Given the description of an element on the screen output the (x, y) to click on. 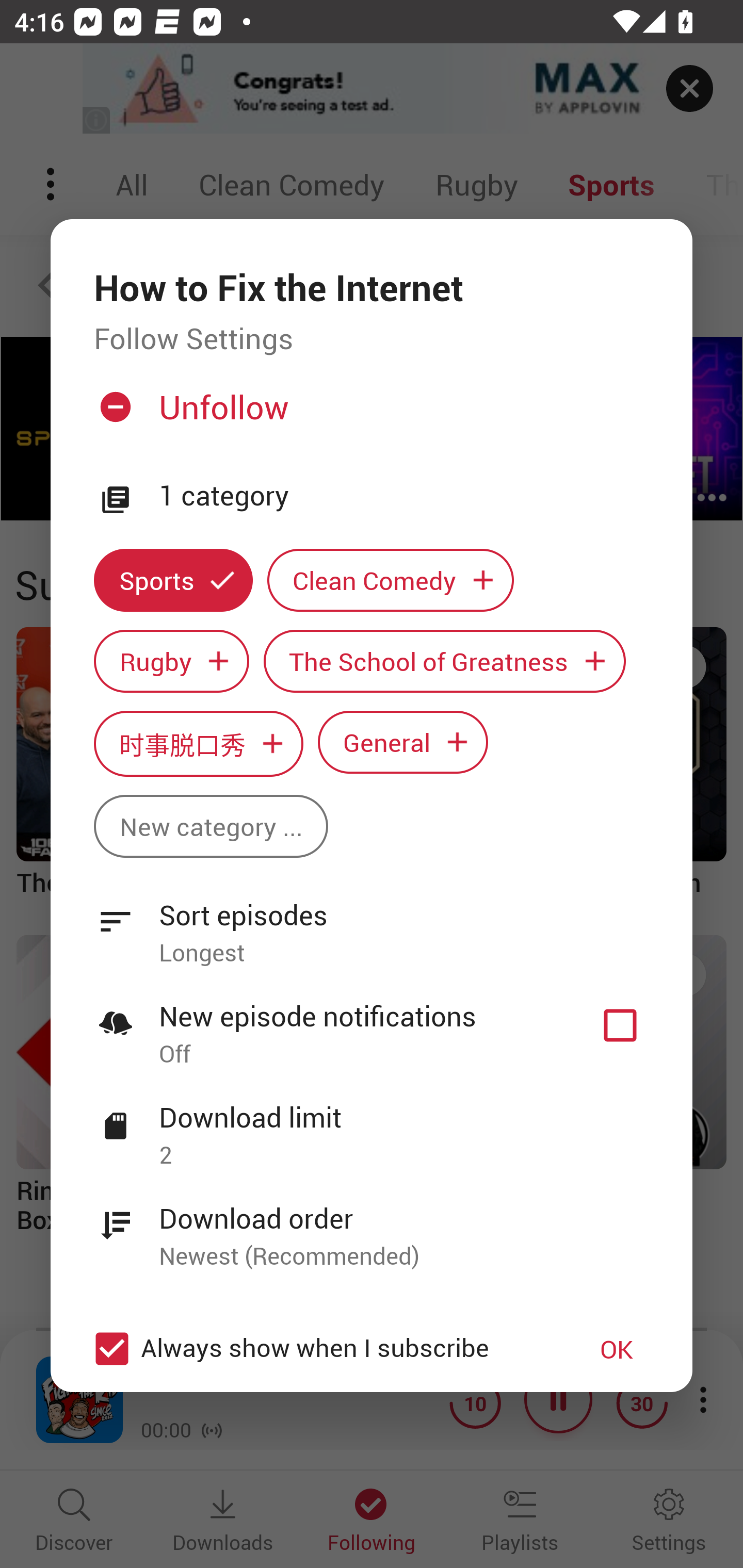
Unfollow (369, 415)
1 category (404, 495)
Sports (172, 579)
Clean Comedy (390, 579)
Rugby (170, 661)
The School of Greatness (444, 661)
时事脱口秀 (198, 743)
General (403, 741)
New category ... (210, 825)
Sort episodes Longest (371, 922)
New episode notifications (620, 1025)
Download limit 2 (371, 1125)
Download order Newest (Recommended) (371, 1226)
OK (616, 1349)
Always show when I subscribe (320, 1349)
